Given the description of an element on the screen output the (x, y) to click on. 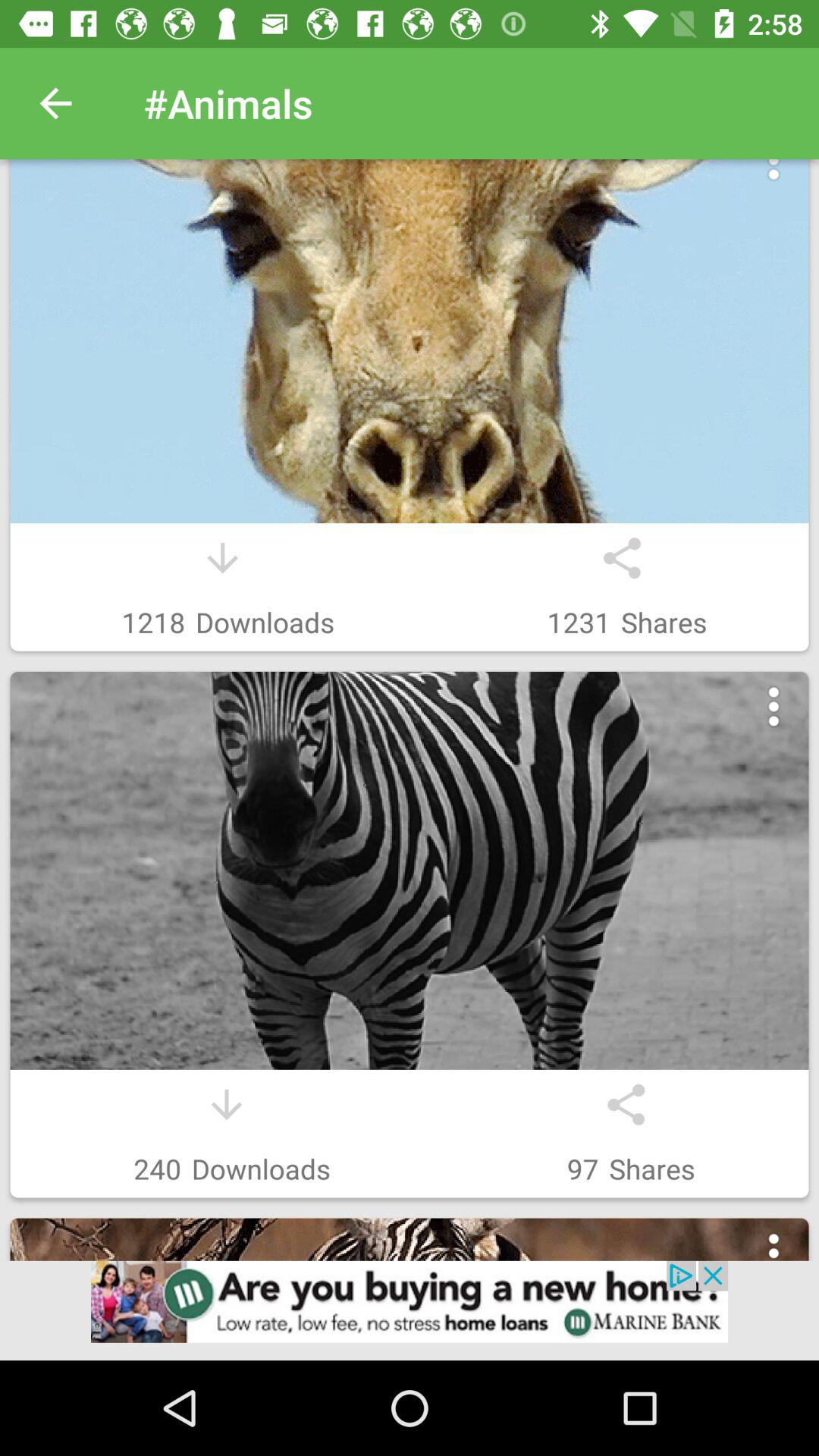
advertisement link (409, 1310)
